Given the description of an element on the screen output the (x, y) to click on. 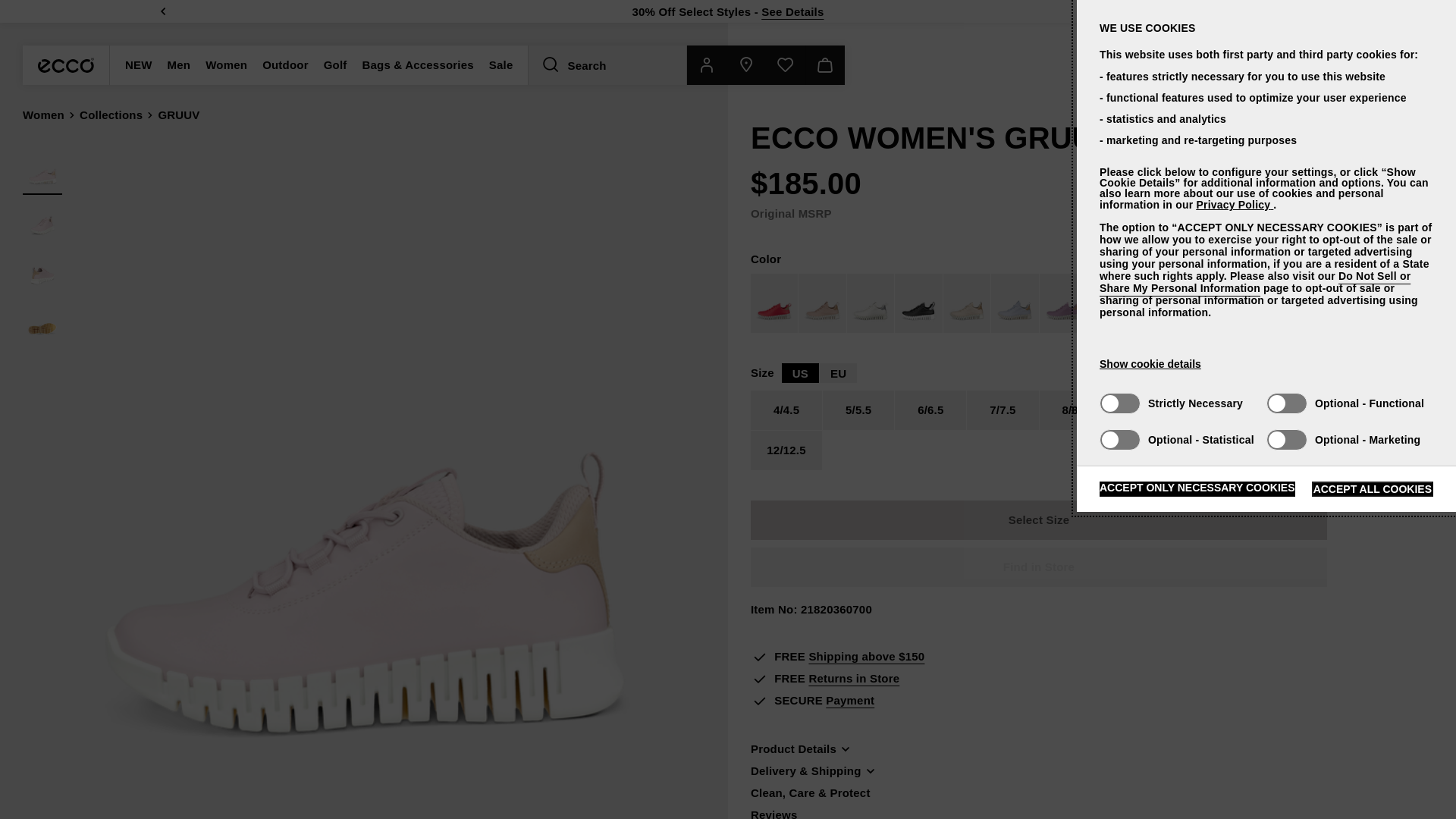
Do Not Sell or Share My Personal Information (1254, 282)
Privacy Policy (1233, 204)
Show cookie details (1150, 363)
